Given the description of an element on the screen output the (x, y) to click on. 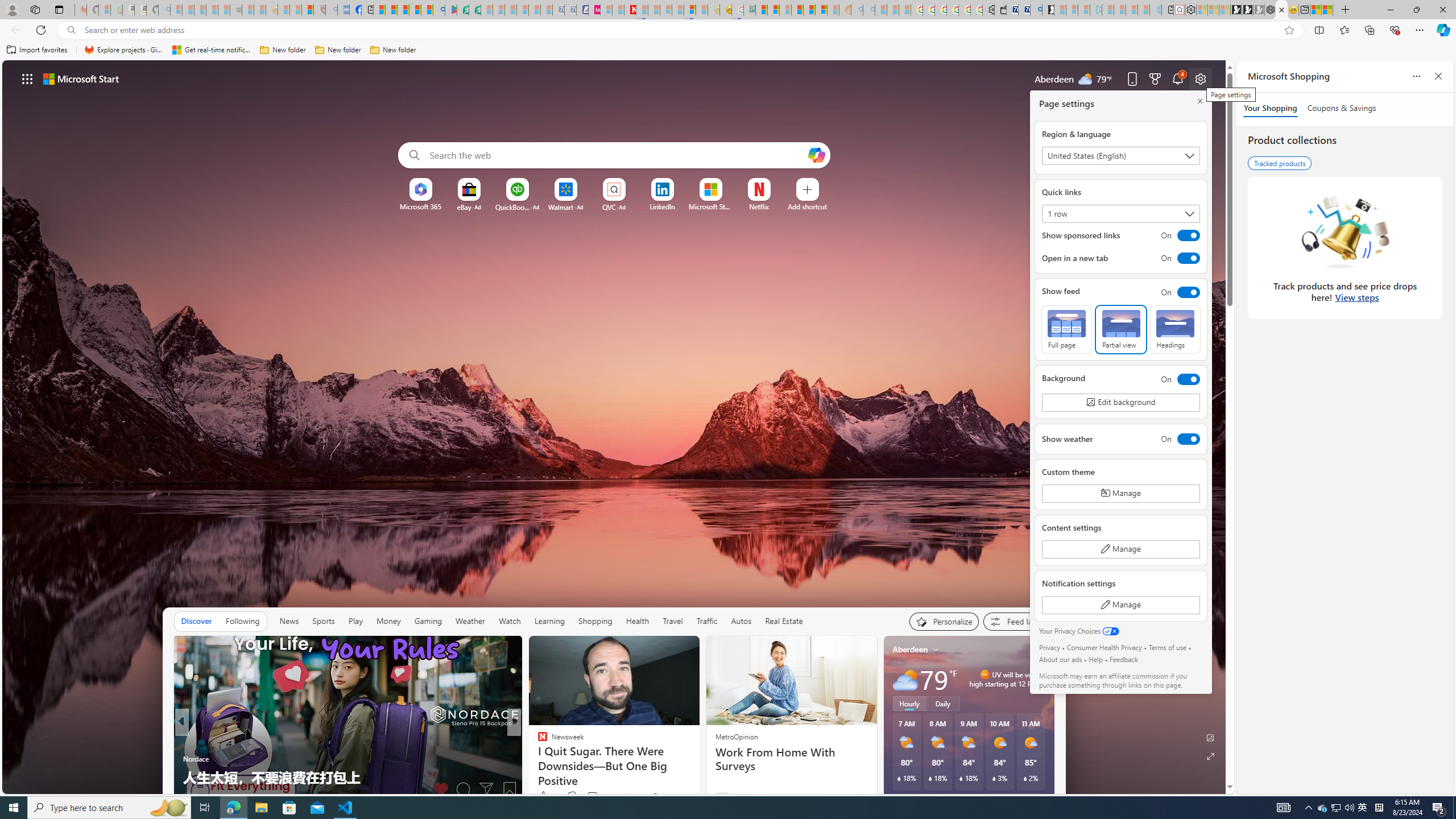
App launcher (27, 78)
Health (637, 621)
Class: weather-arrow-glyph (1043, 678)
Bluey: Let's Play! - Apps on Google Play (450, 9)
Wallet (1000, 9)
Full page (1067, 328)
MetroOpinion (736, 736)
